Given the description of an element on the screen output the (x, y) to click on. 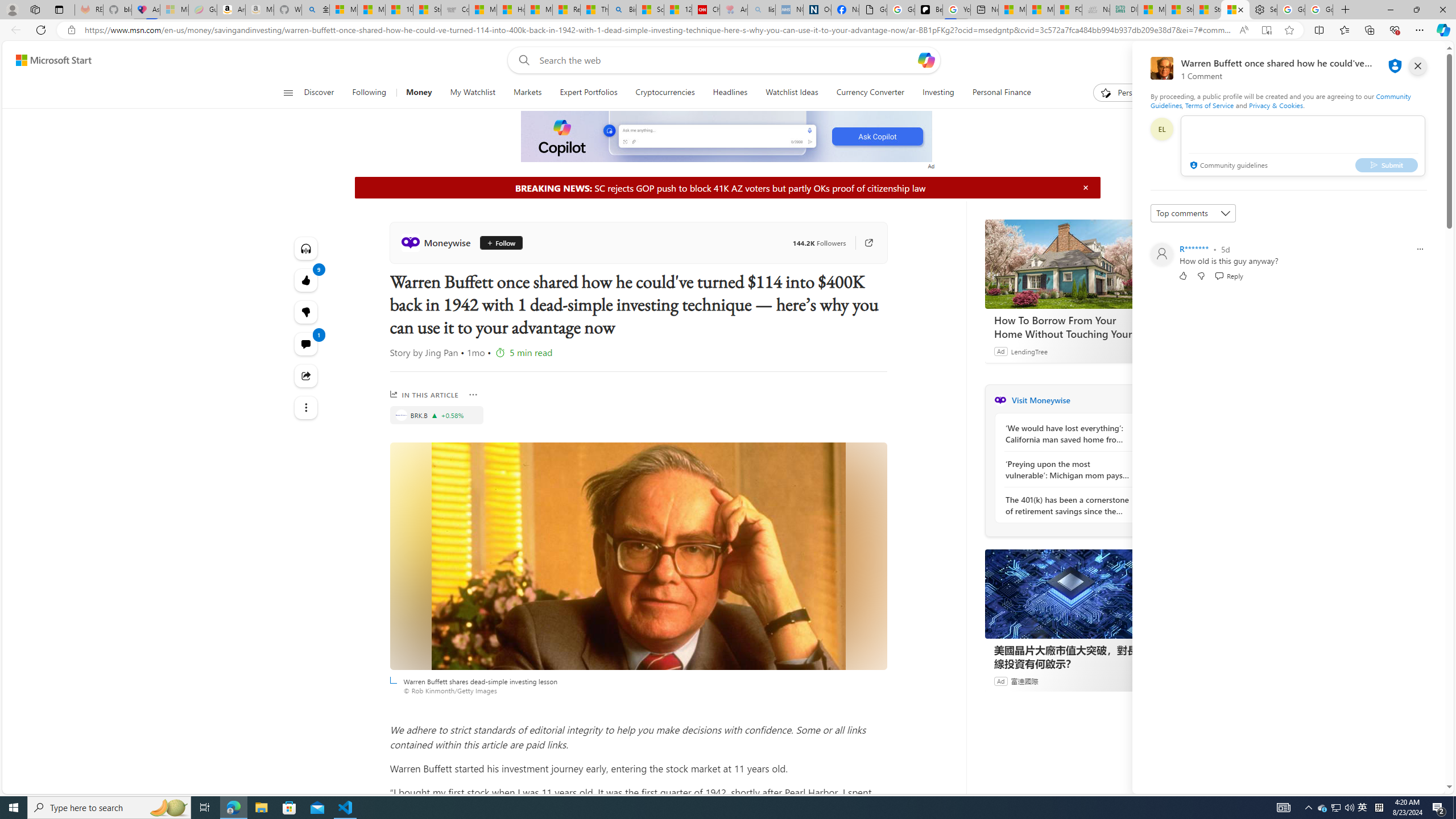
My Watchlist (472, 92)
Terms of Service (1209, 104)
Currency Converter (869, 92)
Reply Reply Comment (1228, 275)
NCL Adult Asthma Inhaler Choice Guideline - Sleeping (789, 9)
Skip to footer (46, 59)
BERKSHIRE HATHAWAY INC. (400, 414)
Investing (937, 92)
Be Smart | creating Science videos | Patreon (928, 9)
Discover (323, 92)
Moneywise (1000, 399)
